Given the description of an element on the screen output the (x, y) to click on. 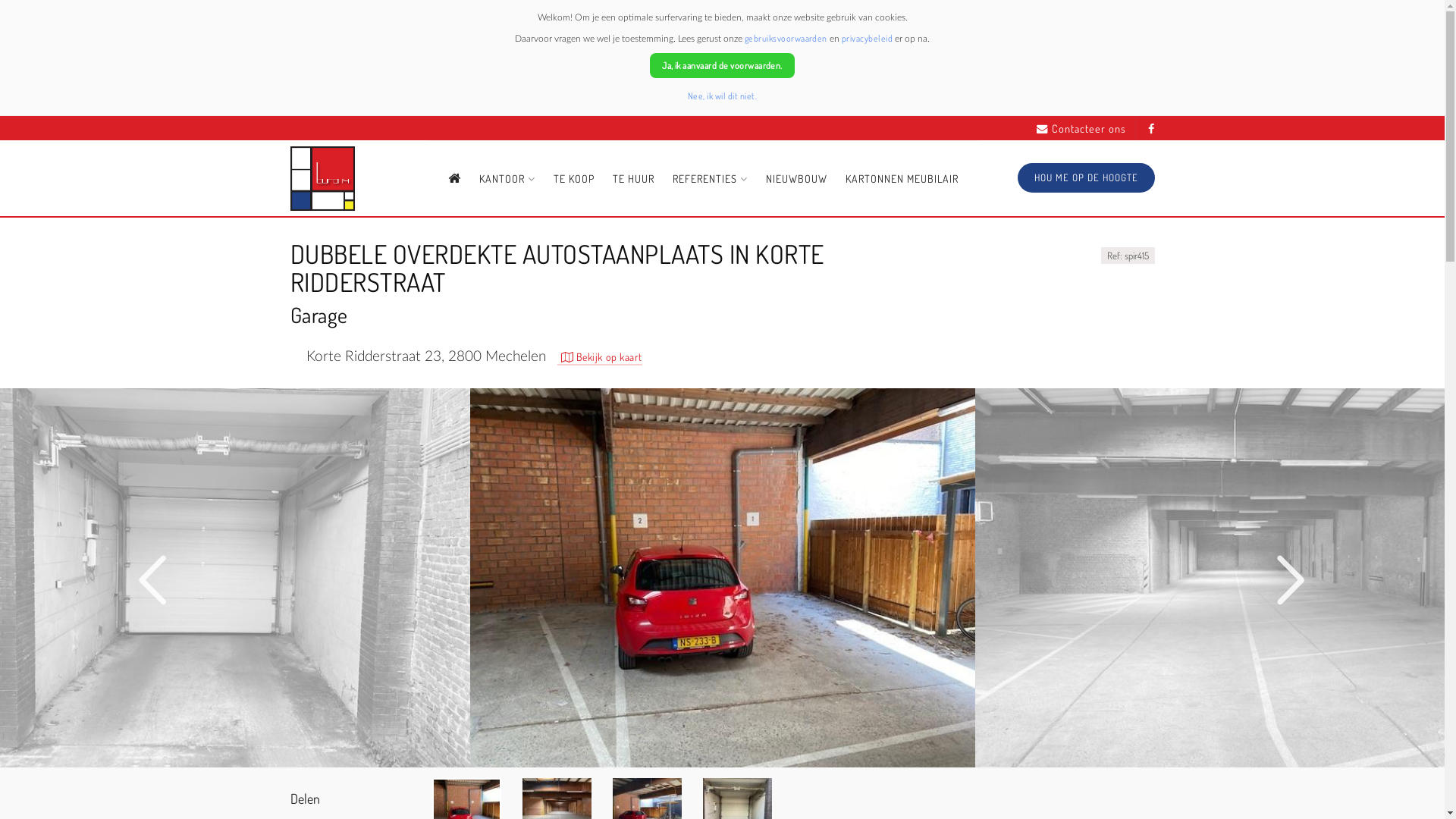
Bekijk op kaart Element type: text (599, 357)
HOU ME OP DE HOOGTE Element type: text (1085, 177)
KANTOOR Element type: text (507, 178)
Ja, ik aanvaard de voorwaarden. Element type: text (721, 65)
KARTONNEN MEUBILAIR Element type: text (901, 178)
Previous Element type: text (153, 580)
Next Element type: text (1291, 580)
privacybeleid Element type: text (866, 37)
REFERENTIES Element type: text (709, 178)
NIEUWBOUW Element type: text (796, 178)
Contacteer ons Element type: text (1080, 128)
TE KOOP Element type: text (573, 178)
Nee, ik wil dit niet. Element type: text (721, 95)
gebruiksvoorwaarden Element type: text (785, 37)
TE HUUR Element type: text (633, 178)
